Given the description of an element on the screen output the (x, y) to click on. 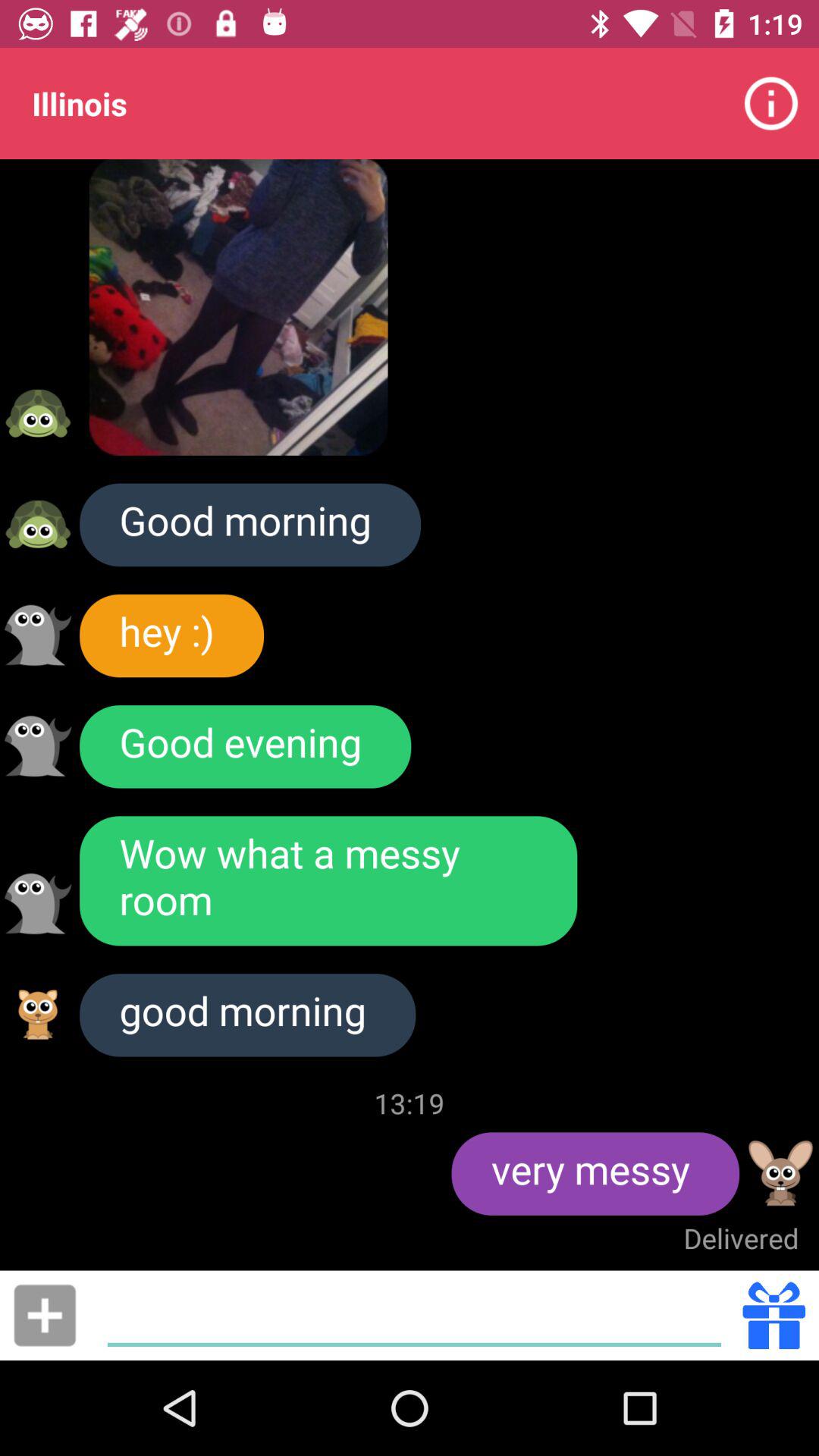
choose the delivered item (741, 1237)
